Given the description of an element on the screen output the (x, y) to click on. 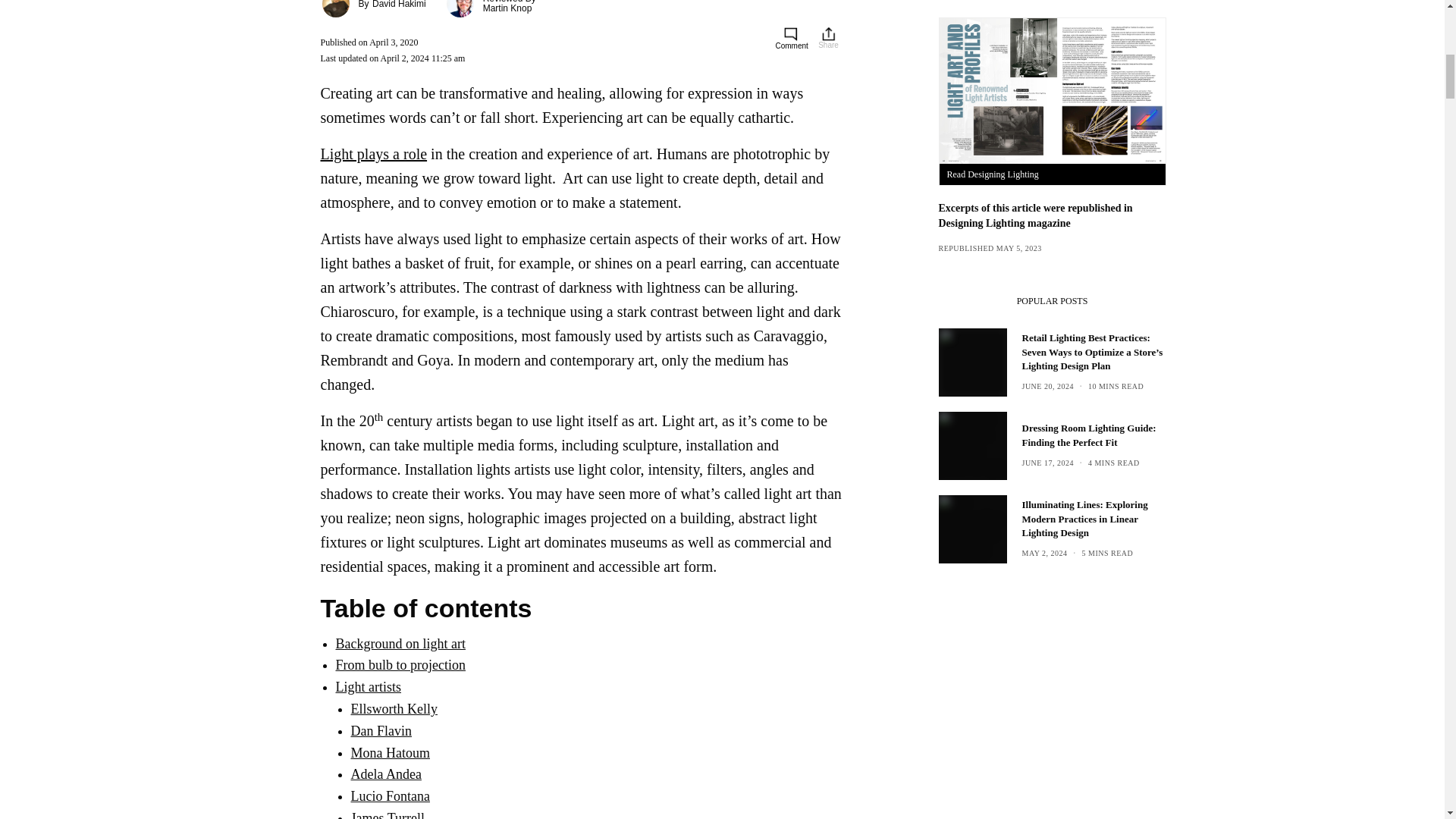
Light plays a role (373, 153)
Background on light art (399, 643)
Ellsworth Kelly (394, 708)
James Turrell (387, 814)
Martin Knop (507, 8)
Dressing Room Lighting Guide: Finding the Perfect Fit (1094, 434)
From bulb to projection (399, 664)
Adela Andea (385, 774)
Lucio Fontana (389, 795)
Mona Hatoum (389, 752)
David Hakimi (399, 4)
Light artists (367, 686)
Martin Knop (507, 8)
David Hakimi (399, 4)
